Given the description of an element on the screen output the (x, y) to click on. 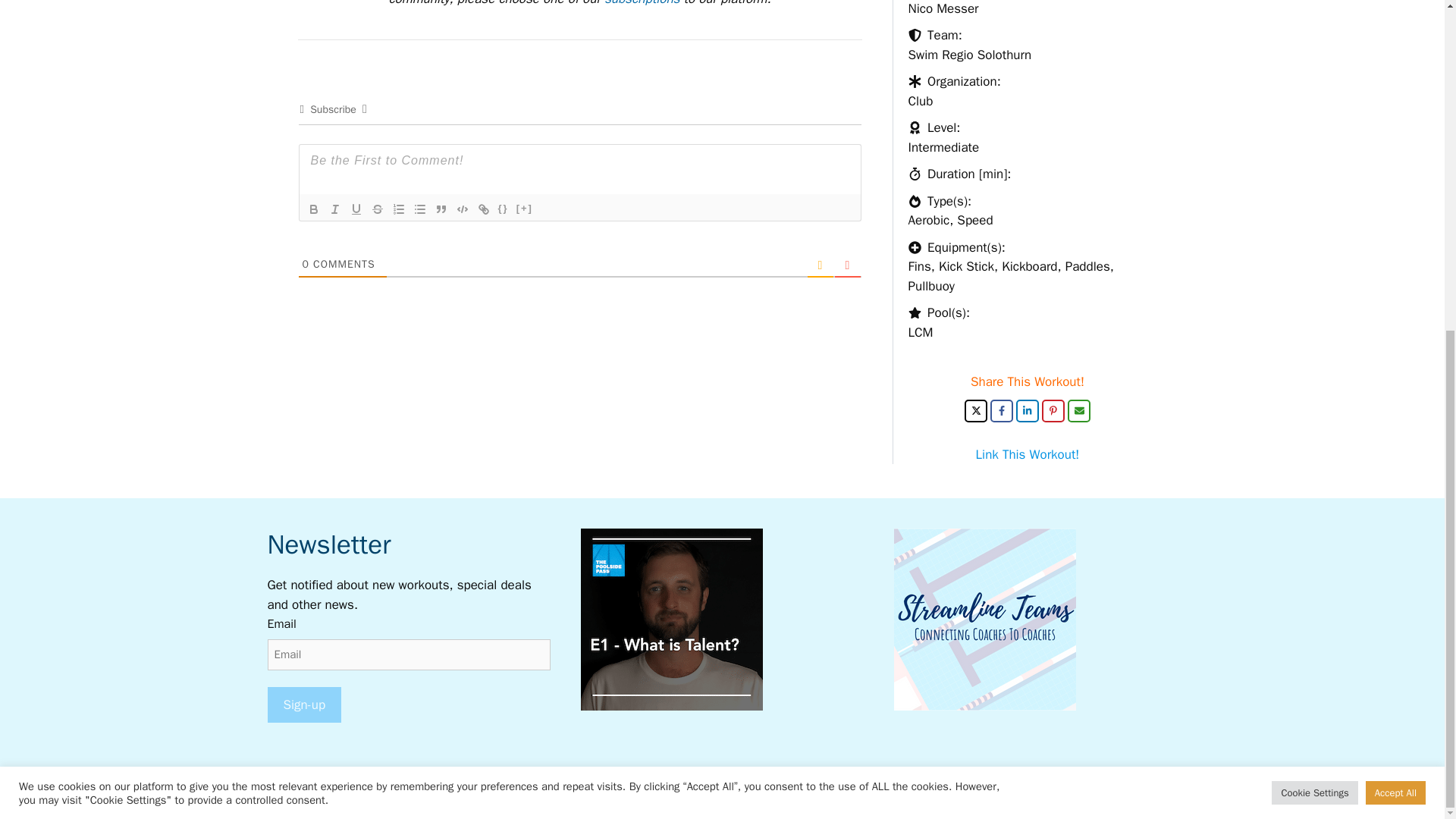
Bold (313, 208)
Become a Member - ProSwimWorkouts.com (641, 3)
subscriptions (641, 3)
Blockquote (440, 208)
Unordered List (419, 208)
Italic (335, 208)
Ordered List (398, 208)
Sign-up (303, 705)
Underline (356, 208)
Strike (377, 208)
